Given the description of an element on the screen output the (x, y) to click on. 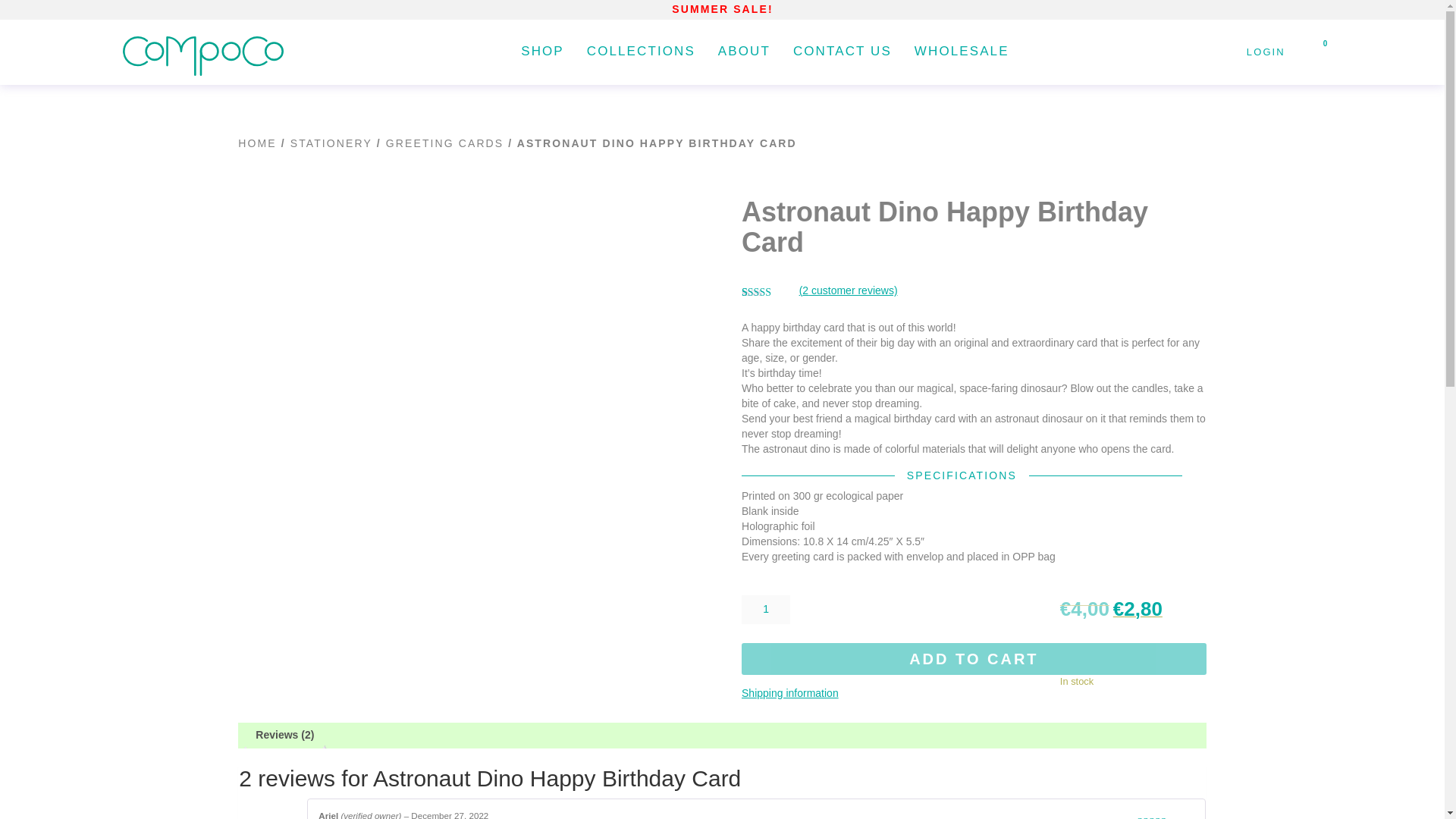
1 (765, 609)
View your shopping cart (1317, 52)
SHOP (542, 51)
login (1273, 52)
